Given the description of an element on the screen output the (x, y) to click on. 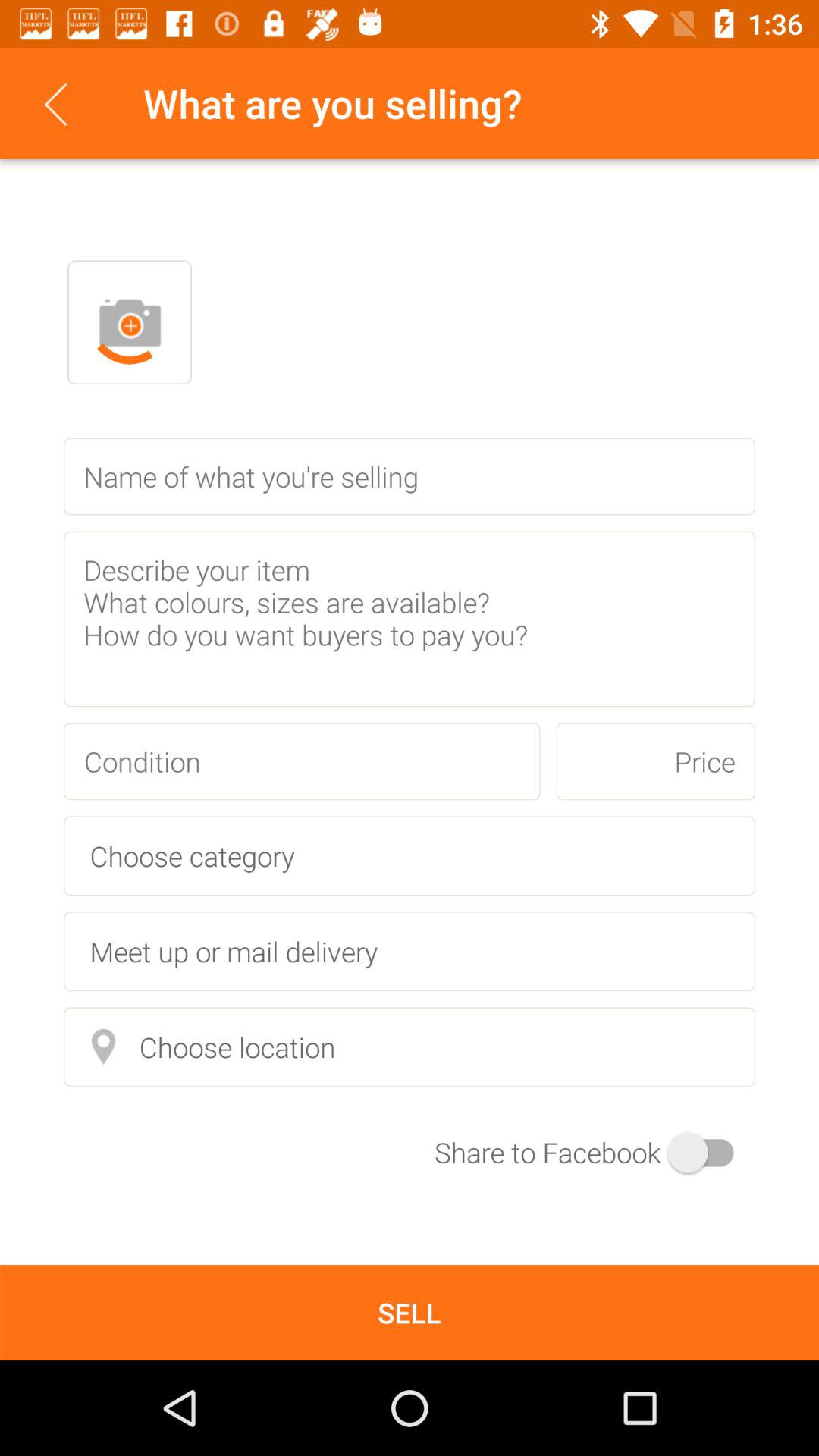
click on choose category (409, 855)
click on the last field choose location (409, 1046)
select the box that reads the text price (655, 760)
click on the cam icon at the top of the page (129, 322)
click on the text field which is below the profile button (409, 476)
click on the switch button at the right bottom of the page (594, 1152)
